Given the description of an element on the screen output the (x, y) to click on. 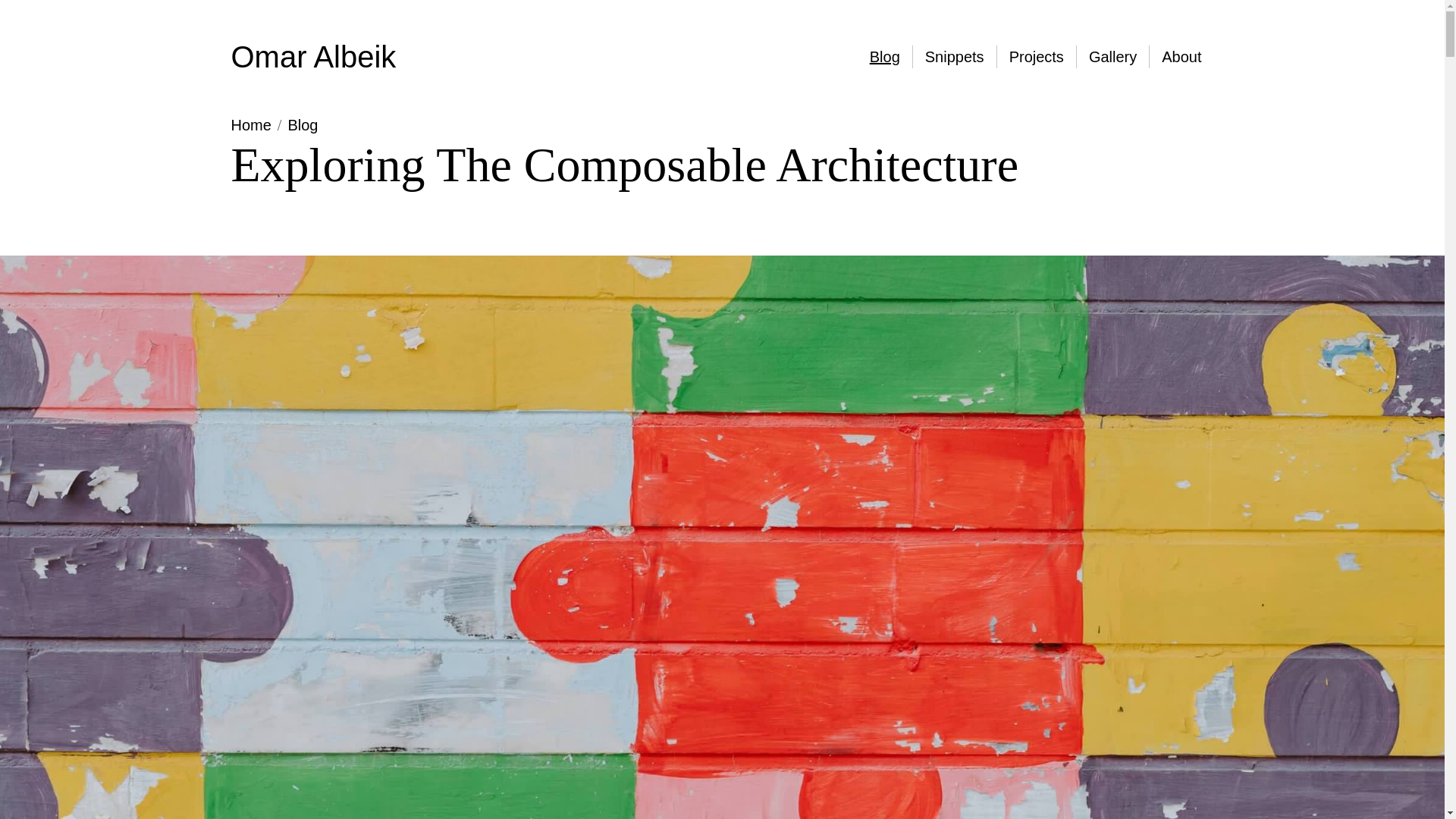
Snippets (953, 56)
Blog (884, 56)
Blog (301, 125)
Projects (1035, 56)
Home (250, 125)
Gallery (1111, 56)
About (1180, 56)
Omar Albeik (313, 56)
